Given the description of an element on the screen output the (x, y) to click on. 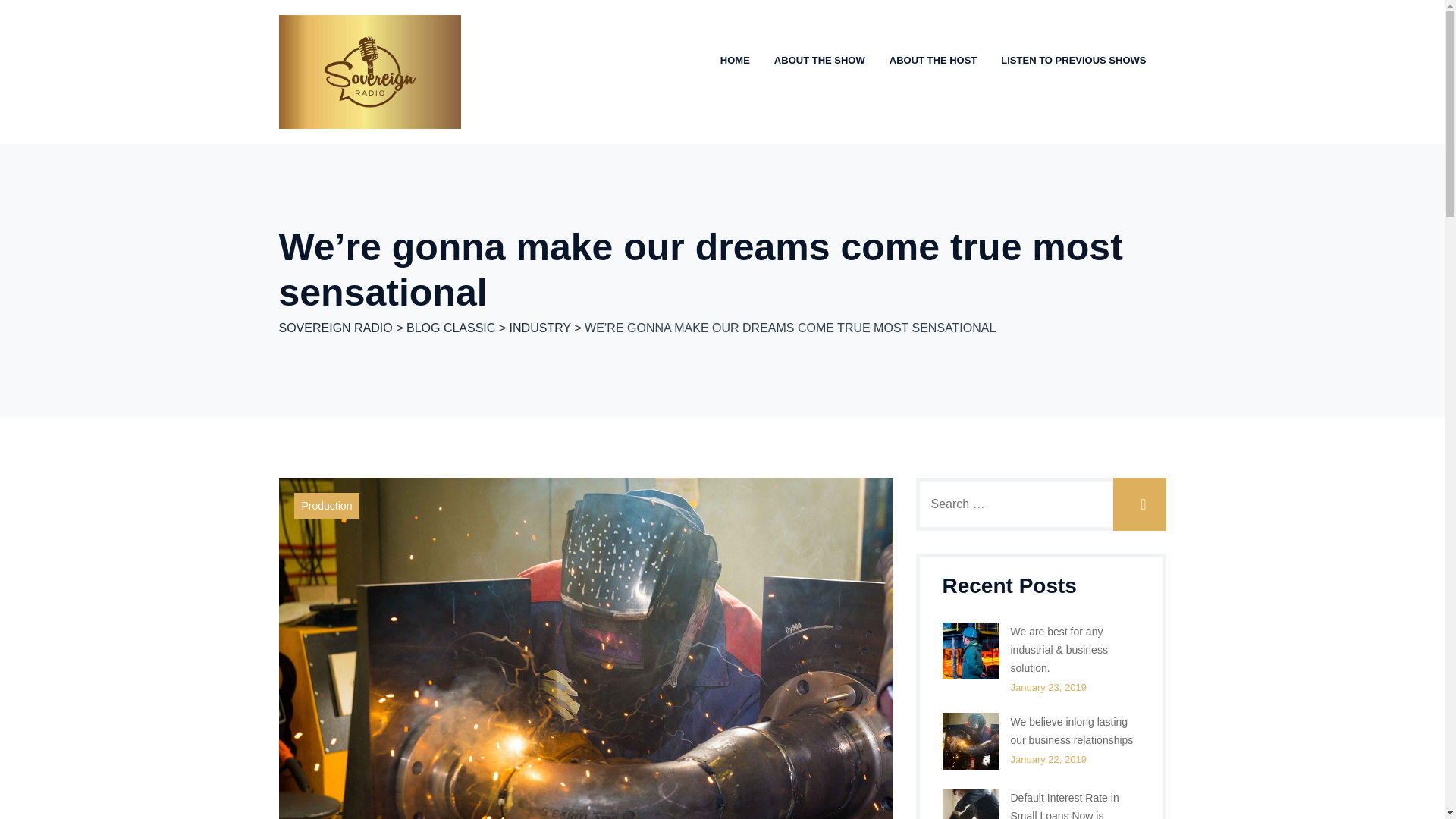
INDUSTRY (539, 327)
Sovereign Radio (370, 71)
SOVEREIGN RADIO (336, 327)
Go to Blog Classic. (450, 327)
LISTEN TO PREVIOUS SHOWS (1073, 60)
BLOG CLASSIC (450, 327)
Go to the Industry Category archives. (539, 327)
Go to Sovereign Radio. (336, 327)
Production (326, 505)
ABOUT THE SHOW (819, 60)
ABOUT THE HOST (932, 60)
Industry (320, 505)
